Given the description of an element on the screen output the (x, y) to click on. 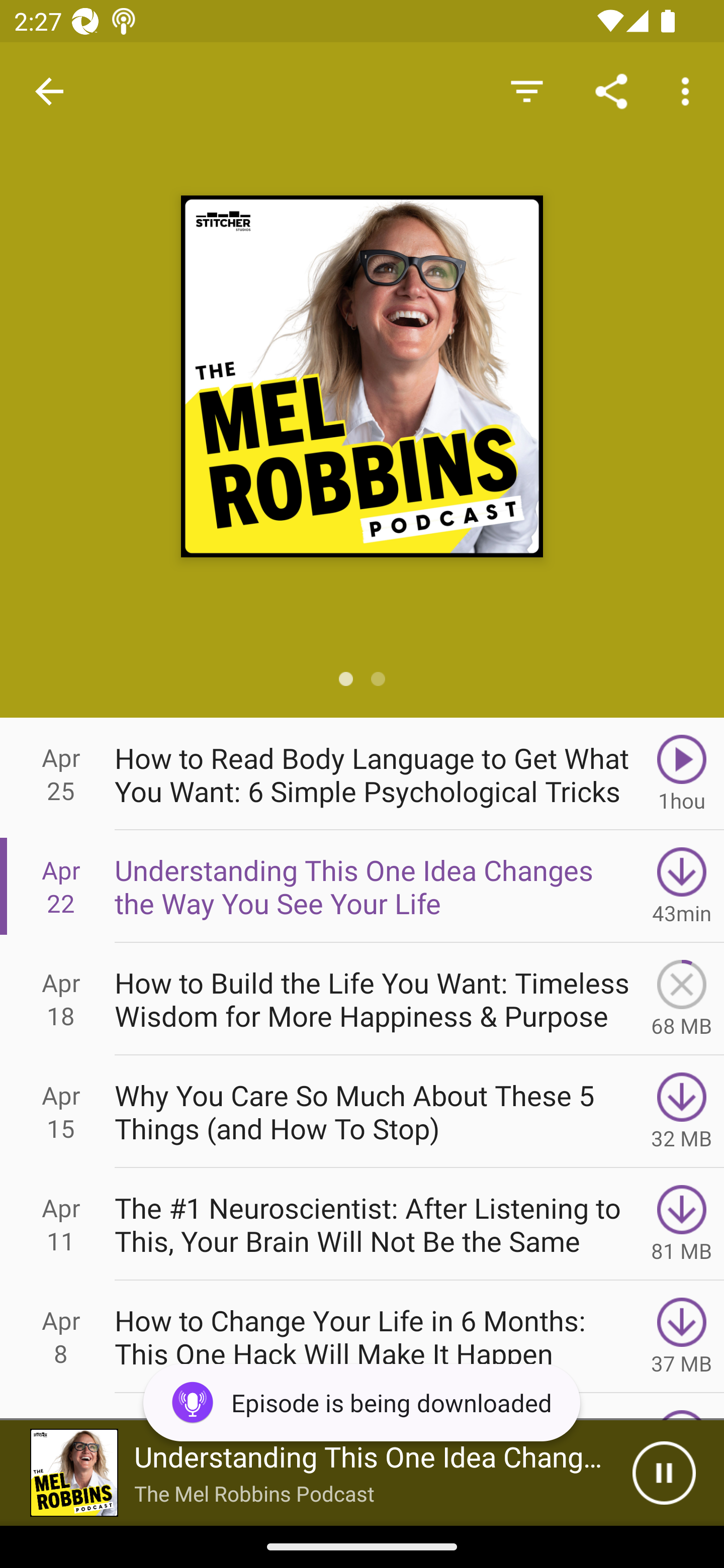
Navigate up (49, 91)
Hide Episodes (526, 90)
Share Link (611, 90)
More options (688, 90)
Play 1hou (681, 773)
Download 43min (681, 885)
Cancel
Download 68 MB (681, 998)
Download 32 MB (681, 1111)
Download 81 MB (681, 1224)
Download 37 MB (681, 1336)
Pause (663, 1472)
